Given the description of an element on the screen output the (x, y) to click on. 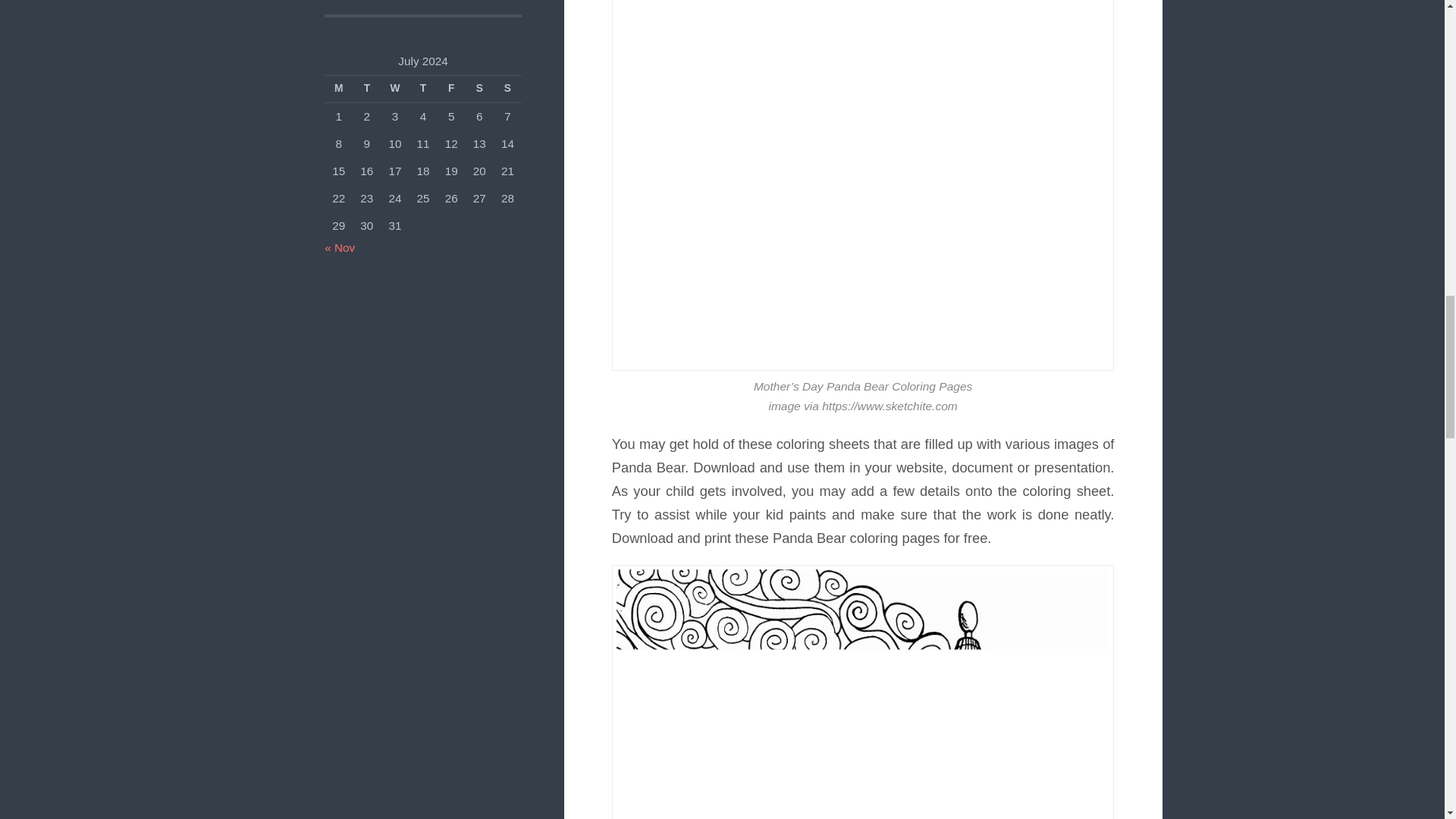
Sunday (507, 89)
Friday (451, 89)
Tuesday (366, 89)
Thursday (423, 89)
Monday (338, 89)
Saturday (479, 89)
Wednesday (394, 89)
